Given the description of an element on the screen output the (x, y) to click on. 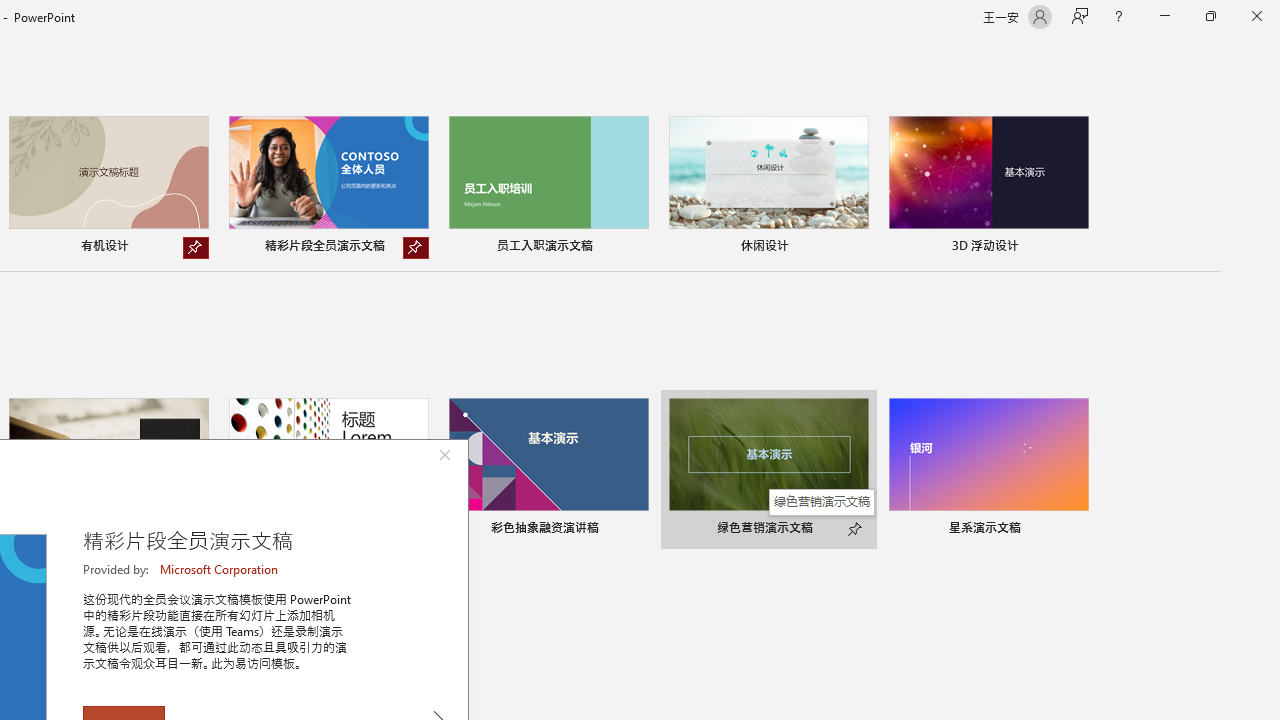
Microsoft Corporation (220, 569)
Pin to list (1075, 529)
